Given the description of an element on the screen output the (x, y) to click on. 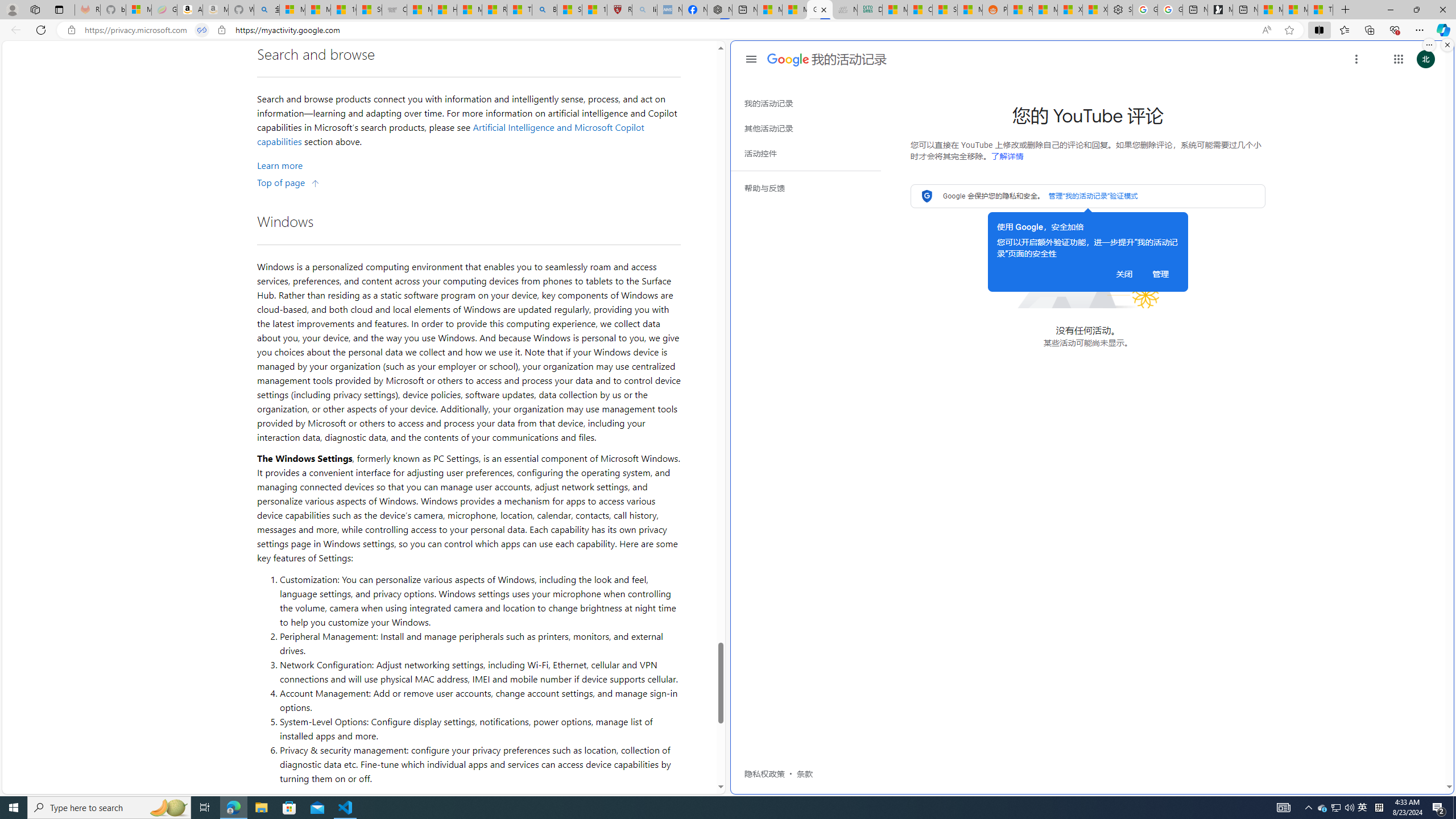
Settings (1119, 9)
These 3 Stocks Pay You More Than 5% to Own Them (1320, 9)
Tabs in split screen (202, 29)
Nordace - Nordace Siena Is Not An Ordinary Backpack (718, 9)
Add this page to favorites (Ctrl+D) (1289, 29)
Bing (544, 9)
MSN (969, 9)
Tab actions menu (58, 9)
Minimize (1390, 9)
list of asthma inhalers uk - Search - Sleeping (644, 9)
Class: gb_Vc (809, 434)
